Given the description of an element on the screen output the (x, y) to click on. 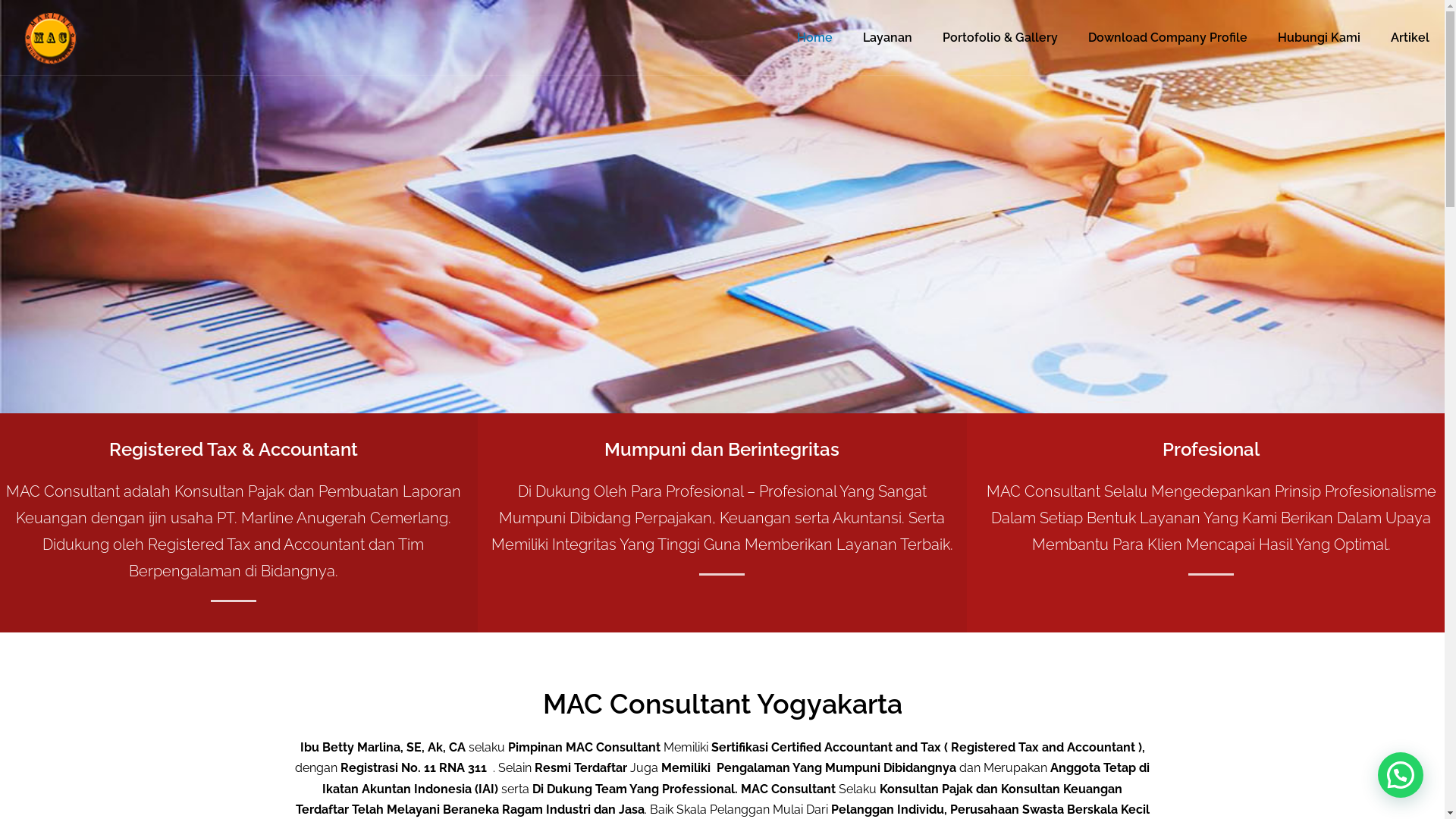
Portofolio & Gallery Element type: text (1000, 37)
Hubungi Kami Element type: text (1318, 37)
Layanan Element type: text (887, 37)
Artikel Element type: text (1409, 37)
Download Company Profile Element type: text (1167, 37)
Home Element type: text (814, 37)
